Given the description of an element on the screen output the (x, y) to click on. 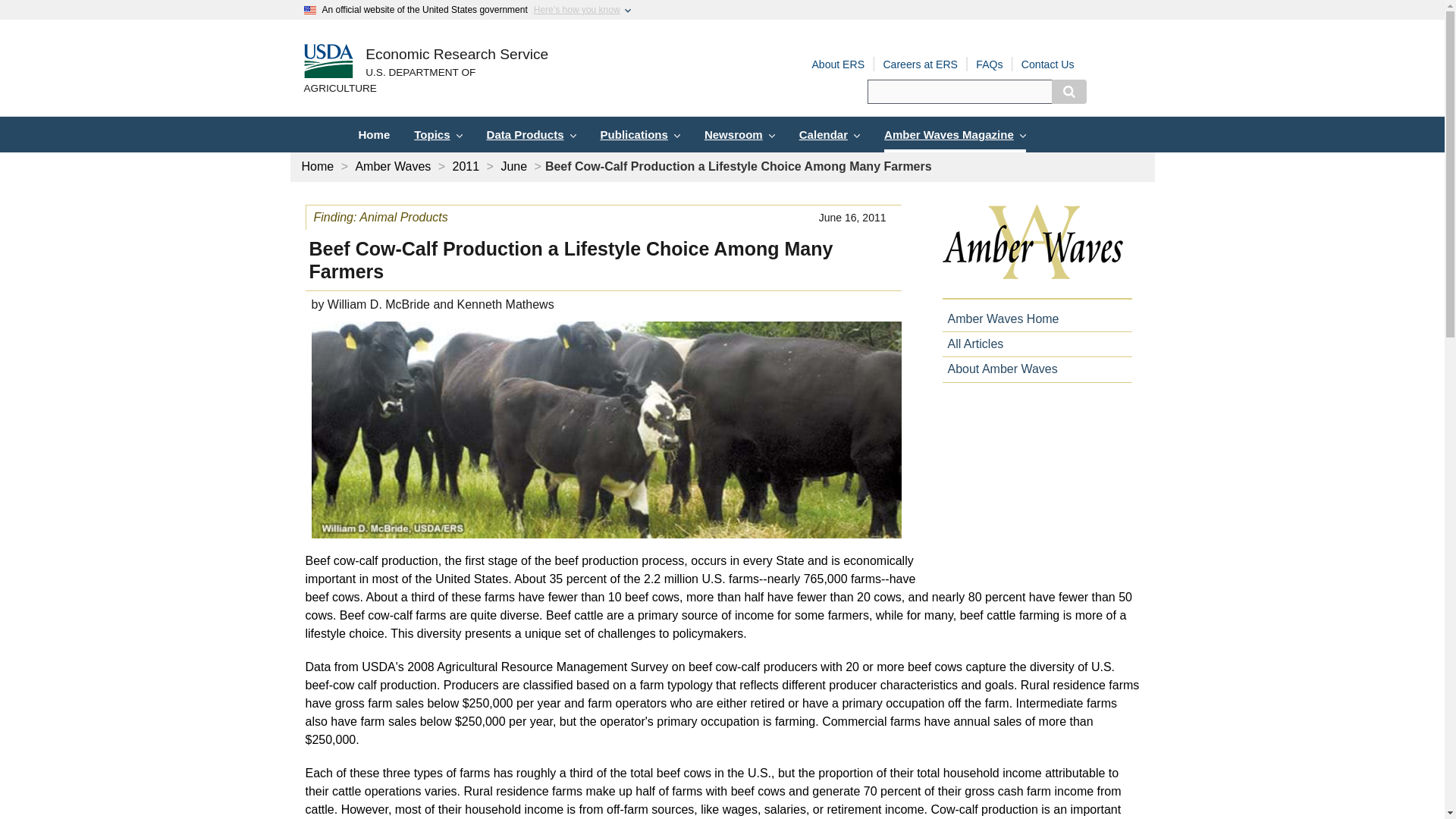
U.S. DEPARTMENT OF AGRICULTURE (425, 81)
Calendar (829, 134)
About Amber Waves (999, 368)
Economic Research Service (456, 54)
Newsroom (740, 134)
June (513, 165)
Publications (640, 134)
All Articles (972, 343)
2011 (466, 165)
Amber Waves home (1036, 251)
Topics (437, 134)
Home (456, 54)
Data Products (531, 134)
About ERS (837, 63)
Careers at ERS (920, 63)
